Given the description of an element on the screen output the (x, y) to click on. 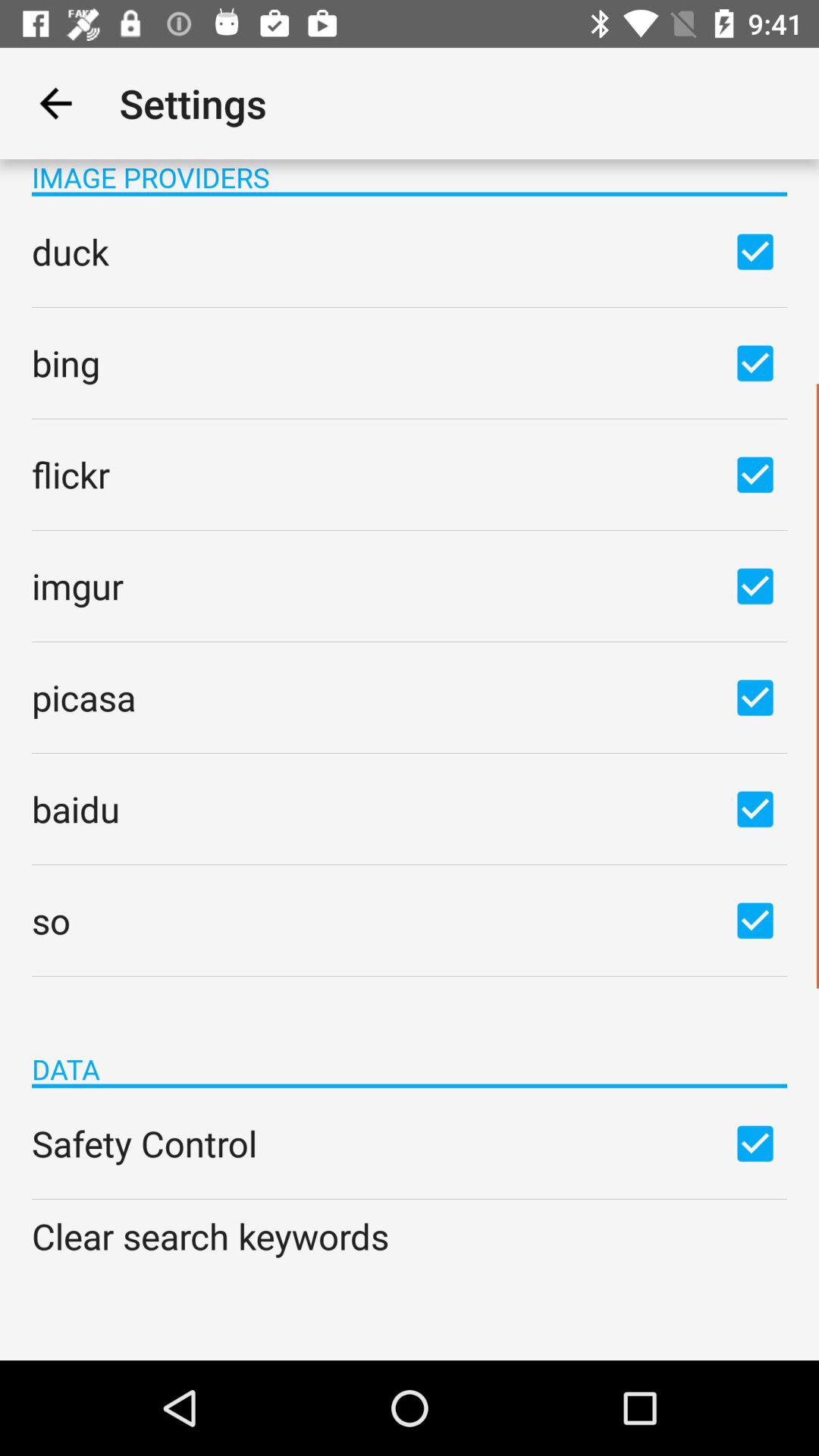
toggle flickr (755, 474)
